Given the description of an element on the screen output the (x, y) to click on. 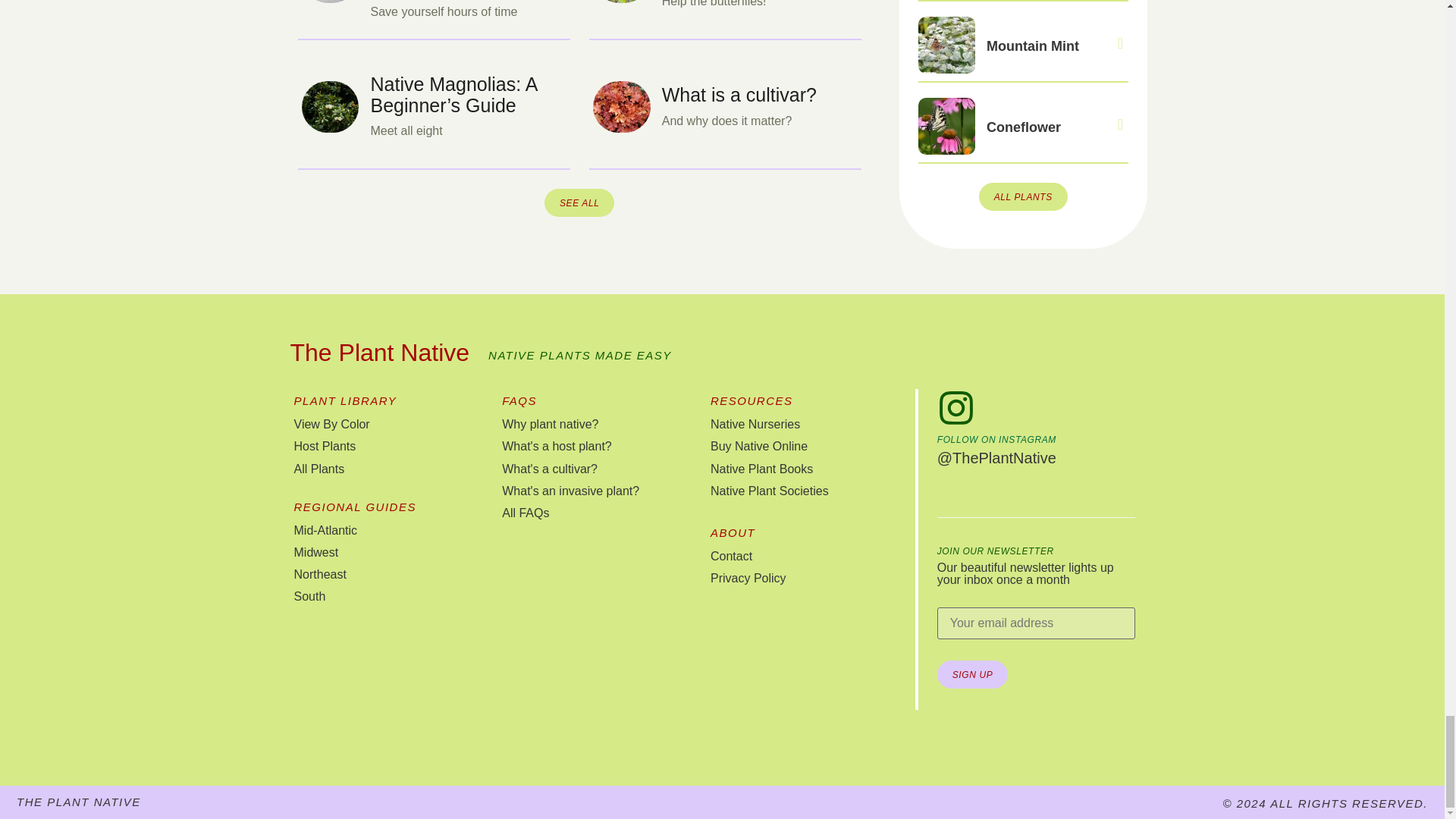
native-garden-with-obedient-plant-pairing-black-eyed-susans (330, 1)
Sign up (973, 674)
